Given the description of an element on the screen output the (x, y) to click on. 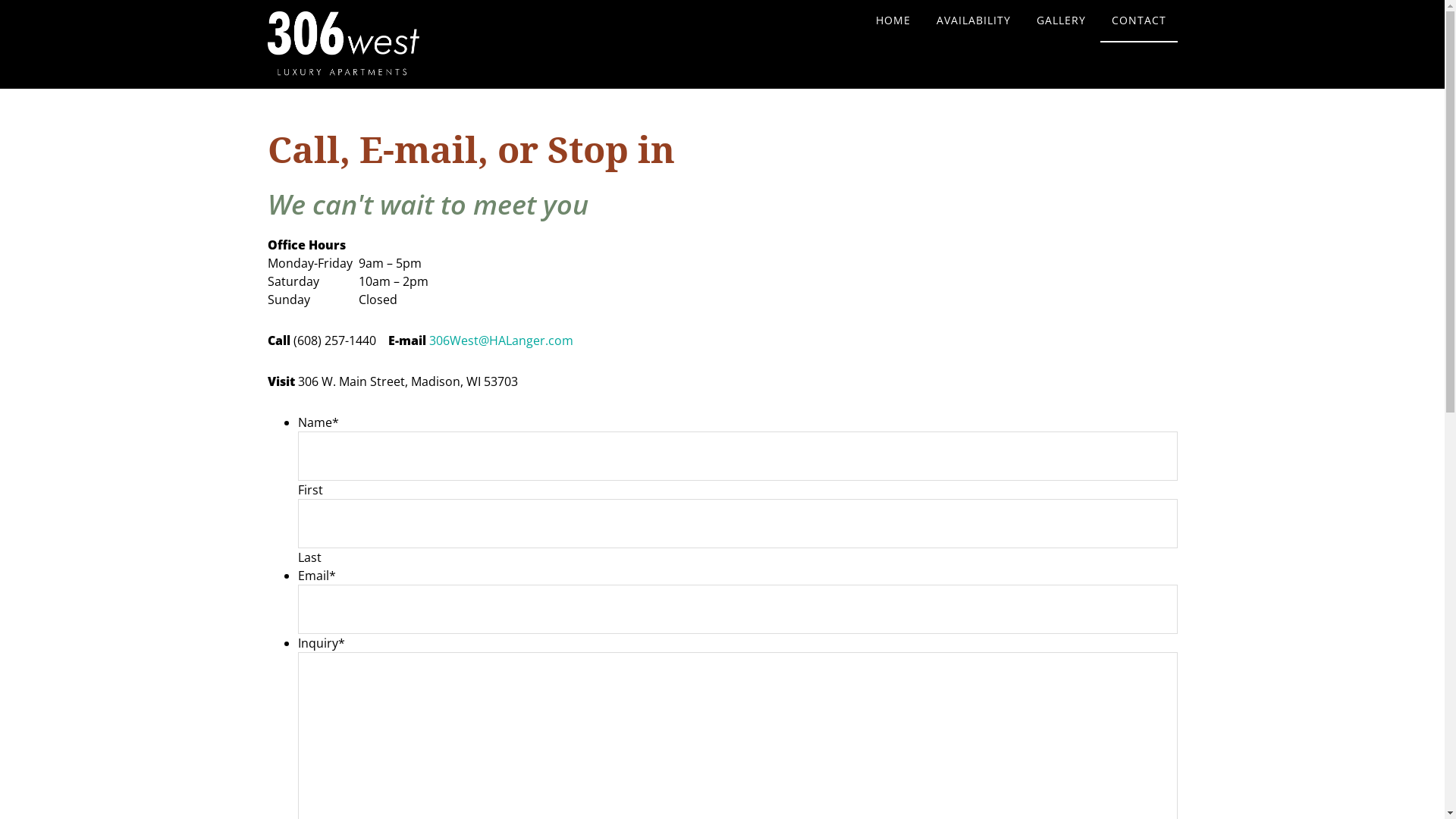
CONTACT Element type: text (1137, 21)
Skip to main content Element type: text (0, 0)
AVAILABILITY Element type: text (973, 21)
HOME Element type: text (893, 21)
GALLERY Element type: text (1061, 21)
306West@HALanger.com Element type: text (501, 340)
